Given the description of an element on the screen output the (x, y) to click on. 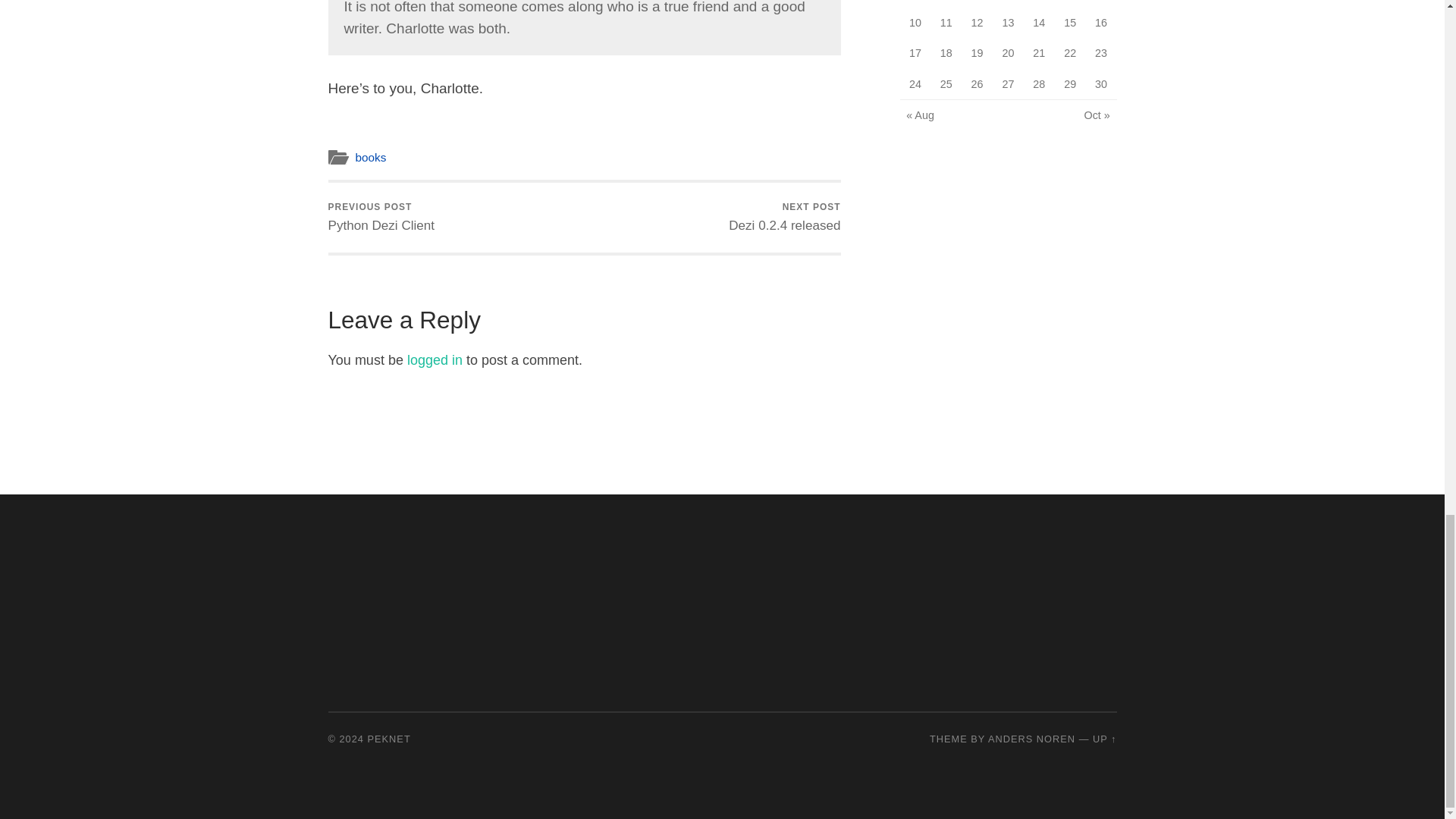
To the top (784, 216)
books (1104, 738)
logged in (370, 156)
